Given the description of an element on the screen output the (x, y) to click on. 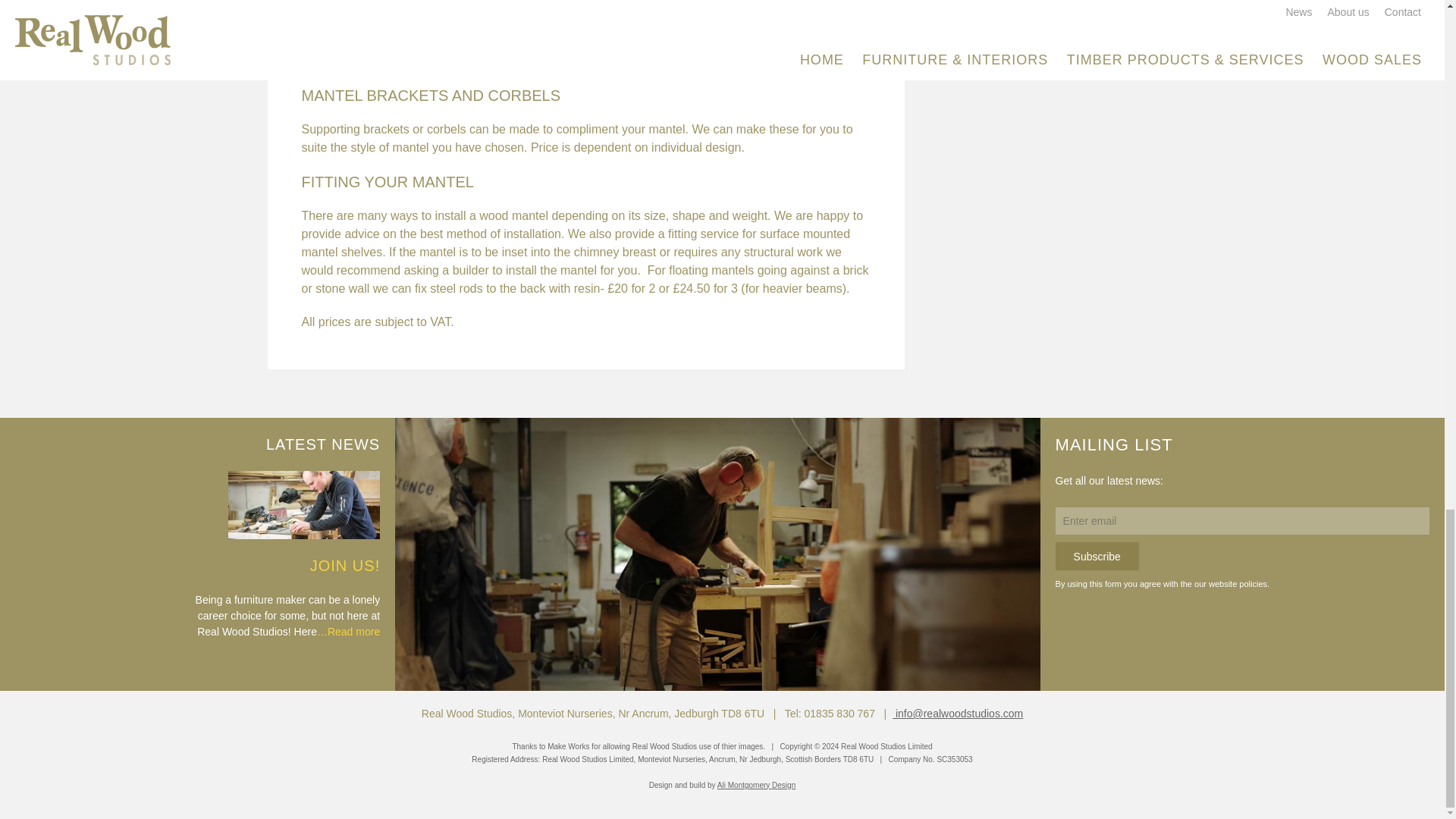
Subscribe (1096, 556)
JOIN US! (345, 565)
Subscribe (1096, 556)
Ali Montgomery Design (755, 785)
